Given the description of an element on the screen output the (x, y) to click on. 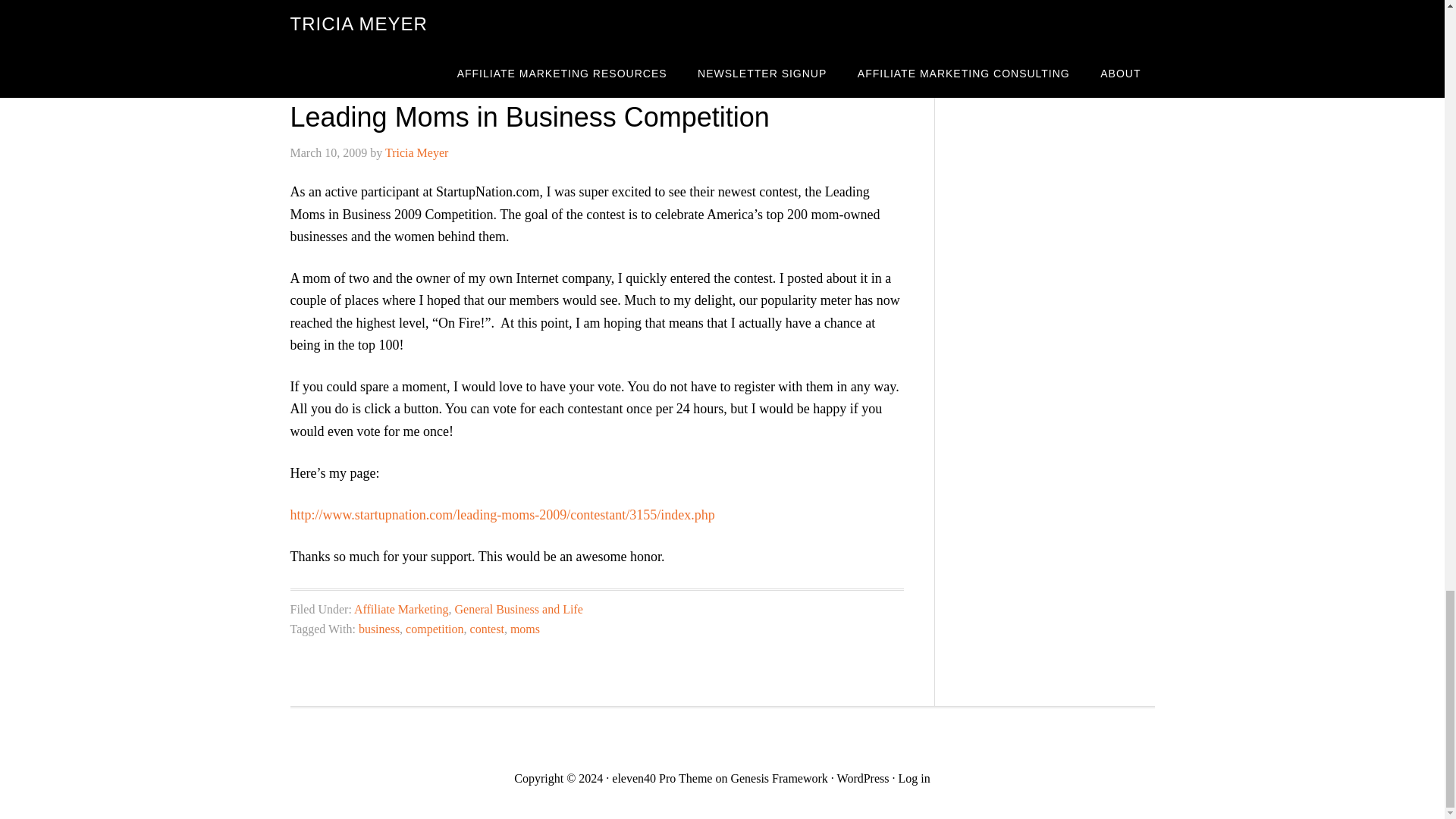
Leading Moms in Business Competition (528, 116)
Tricia Meyer (416, 152)
Affiliate Summit (399, 44)
Affiliate Summit (394, 24)
contest (463, 44)
